Given the description of an element on the screen output the (x, y) to click on. 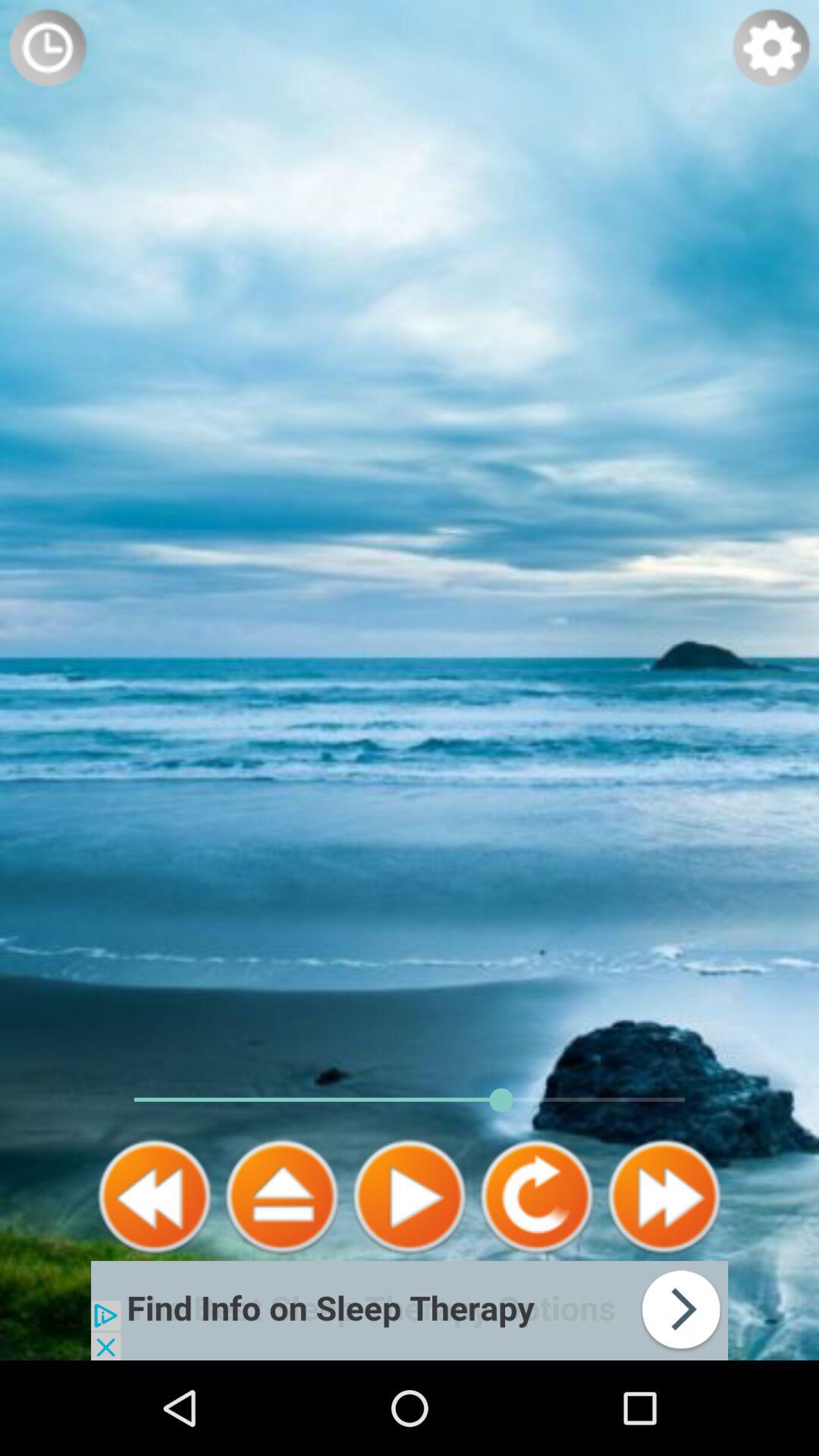
rewind option (281, 1196)
